Given the description of an element on the screen output the (x, y) to click on. 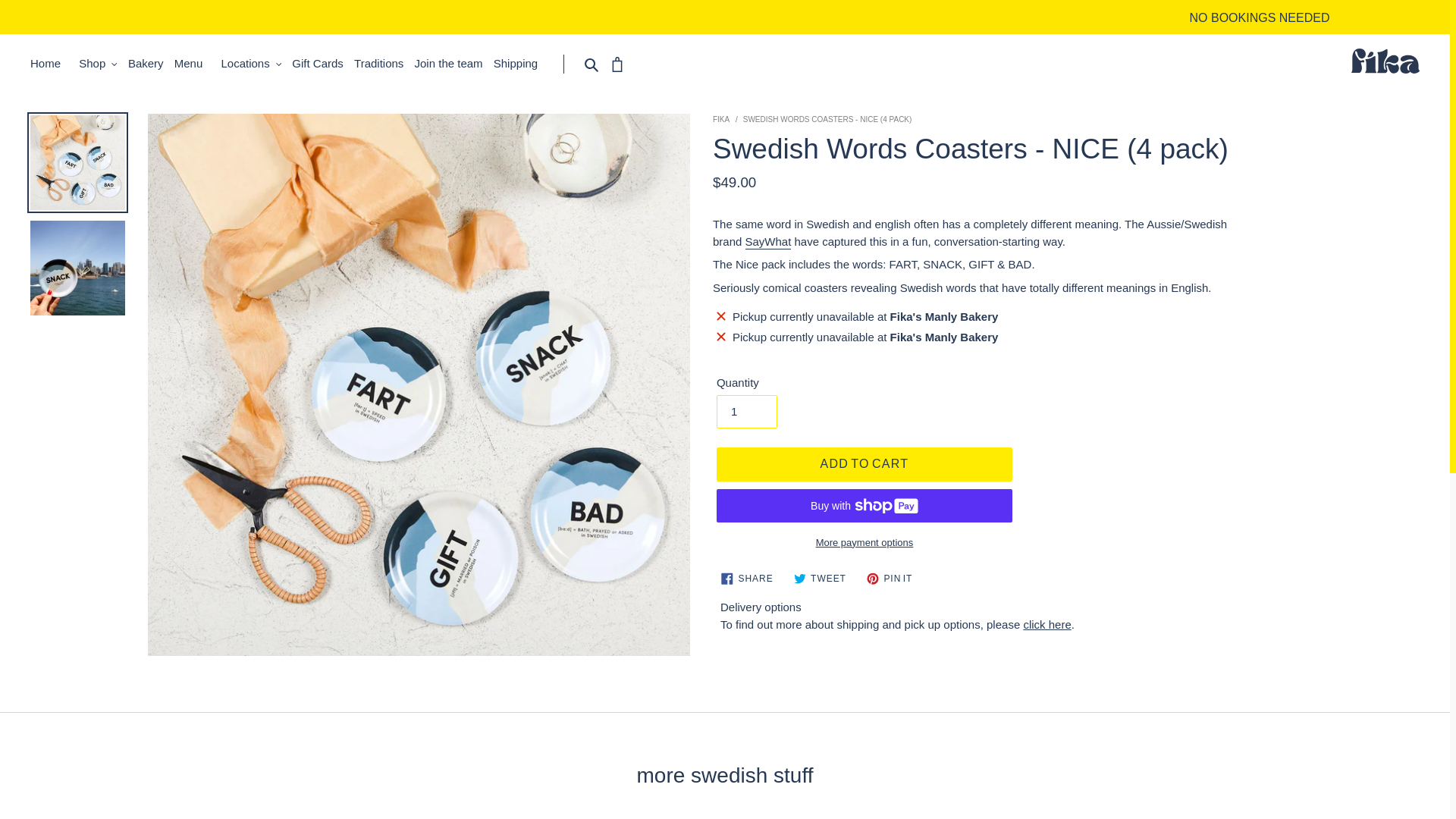
Home (49, 64)
Join the team (452, 64)
Gift Cards (321, 64)
Bakery (149, 64)
Traditions (381, 64)
Menu (192, 64)
Shop (98, 64)
1 (746, 411)
Fika's Shipping options (1046, 624)
Locations (250, 64)
Shipping (518, 64)
